Given the description of an element on the screen output the (x, y) to click on. 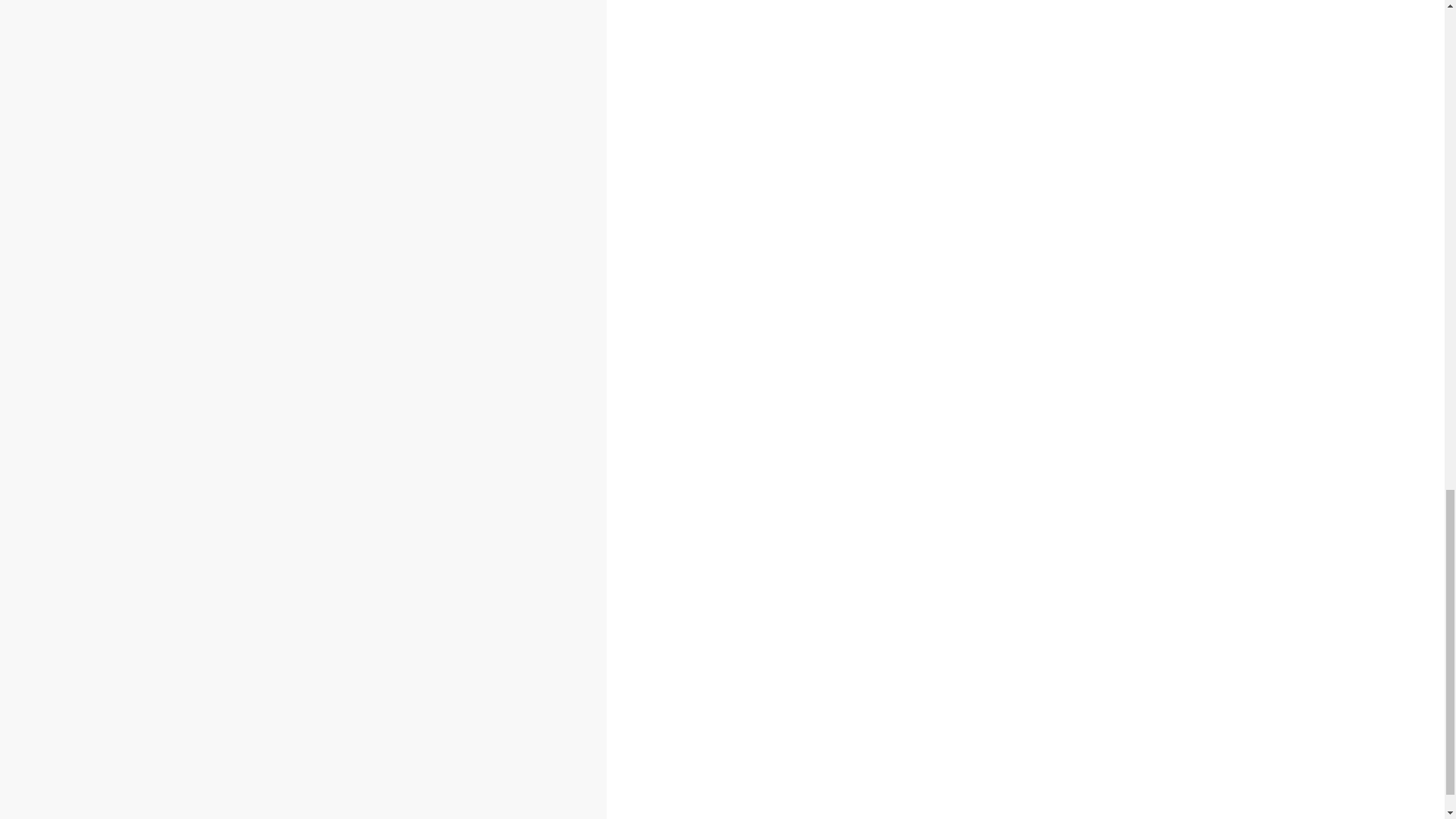
August 2023 (128, 433)
April 2024 (122, 297)
November 2022 (137, 586)
April 2023 (122, 501)
August 2024 (128, 230)
Tips dan Trik Menang Bermain Sicbo Online (95, 6)
February 2024 (132, 331)
February 2023 (132, 535)
October 2023 (131, 400)
December 2022 (137, 569)
